Given the description of an element on the screen output the (x, y) to click on. 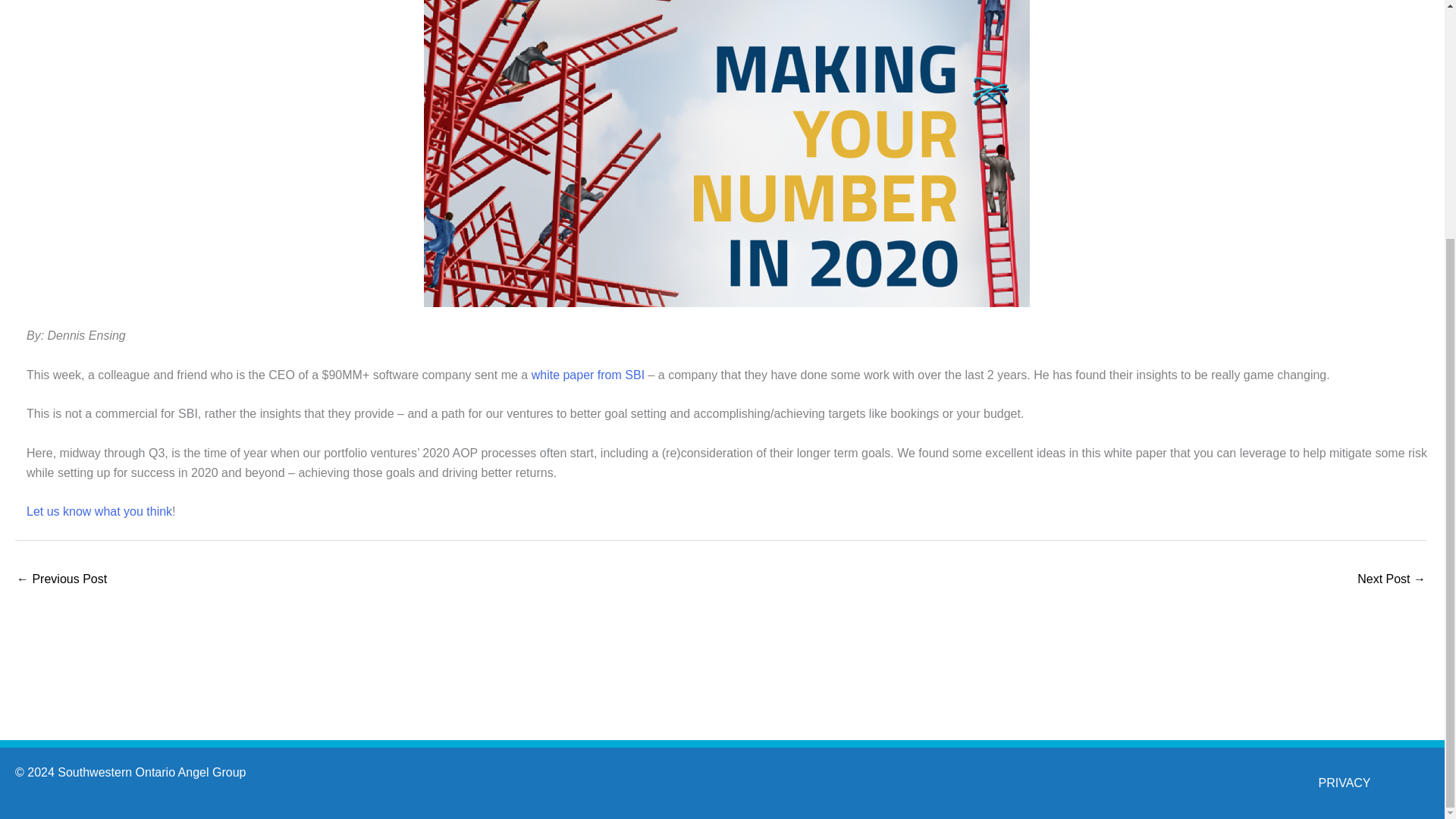
10 Tips To Elevate your Email Etiquette (61, 580)
Summer Golf Social (1390, 580)
